Given the description of an element on the screen output the (x, y) to click on. 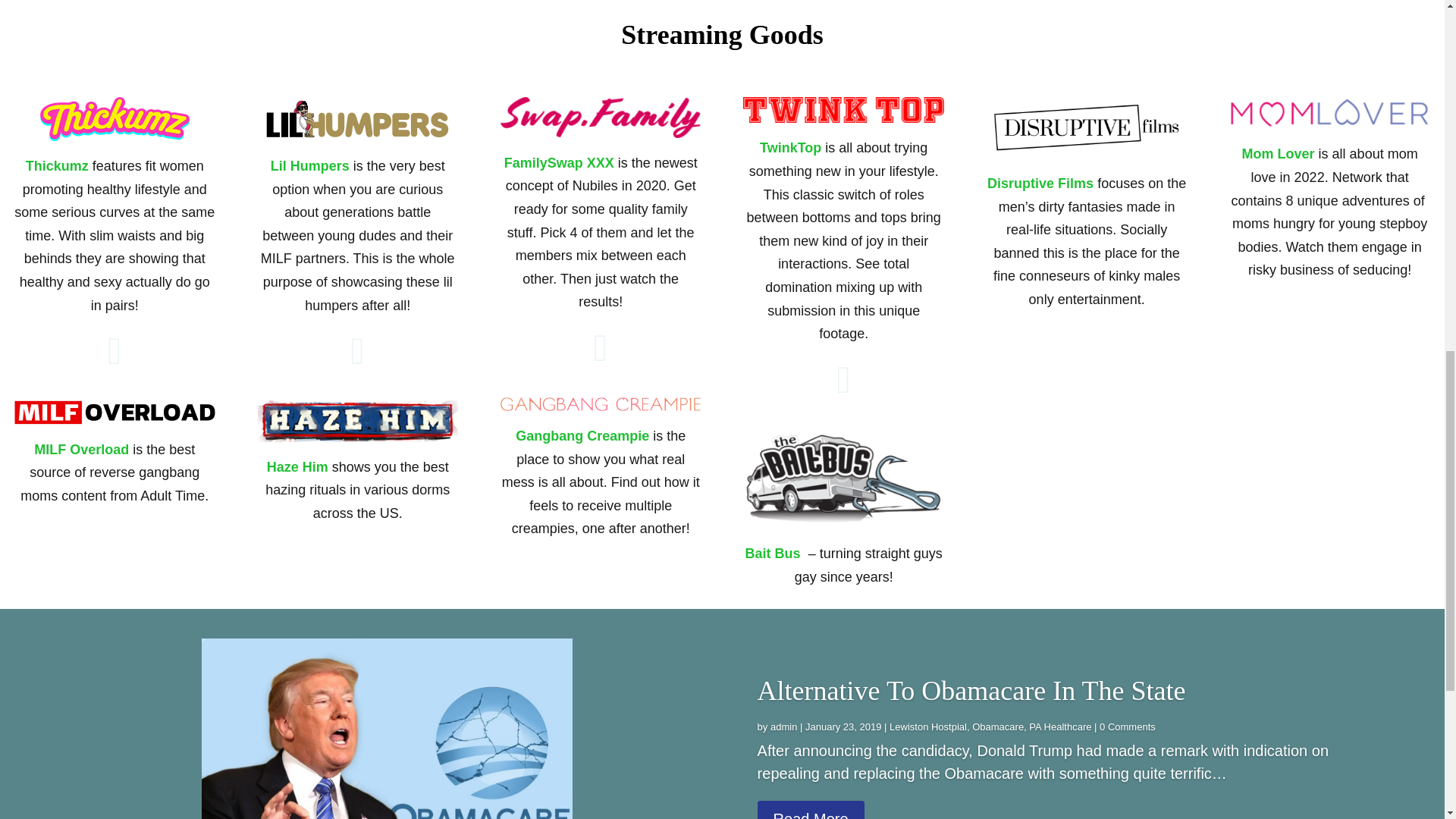
Haze Him (297, 467)
Thickumz (57, 165)
MILF Overload (81, 449)
Lil Humpers (309, 165)
FamilySwap XXX (558, 162)
Posts by admin (783, 726)
